Given the description of an element on the screen output the (x, y) to click on. 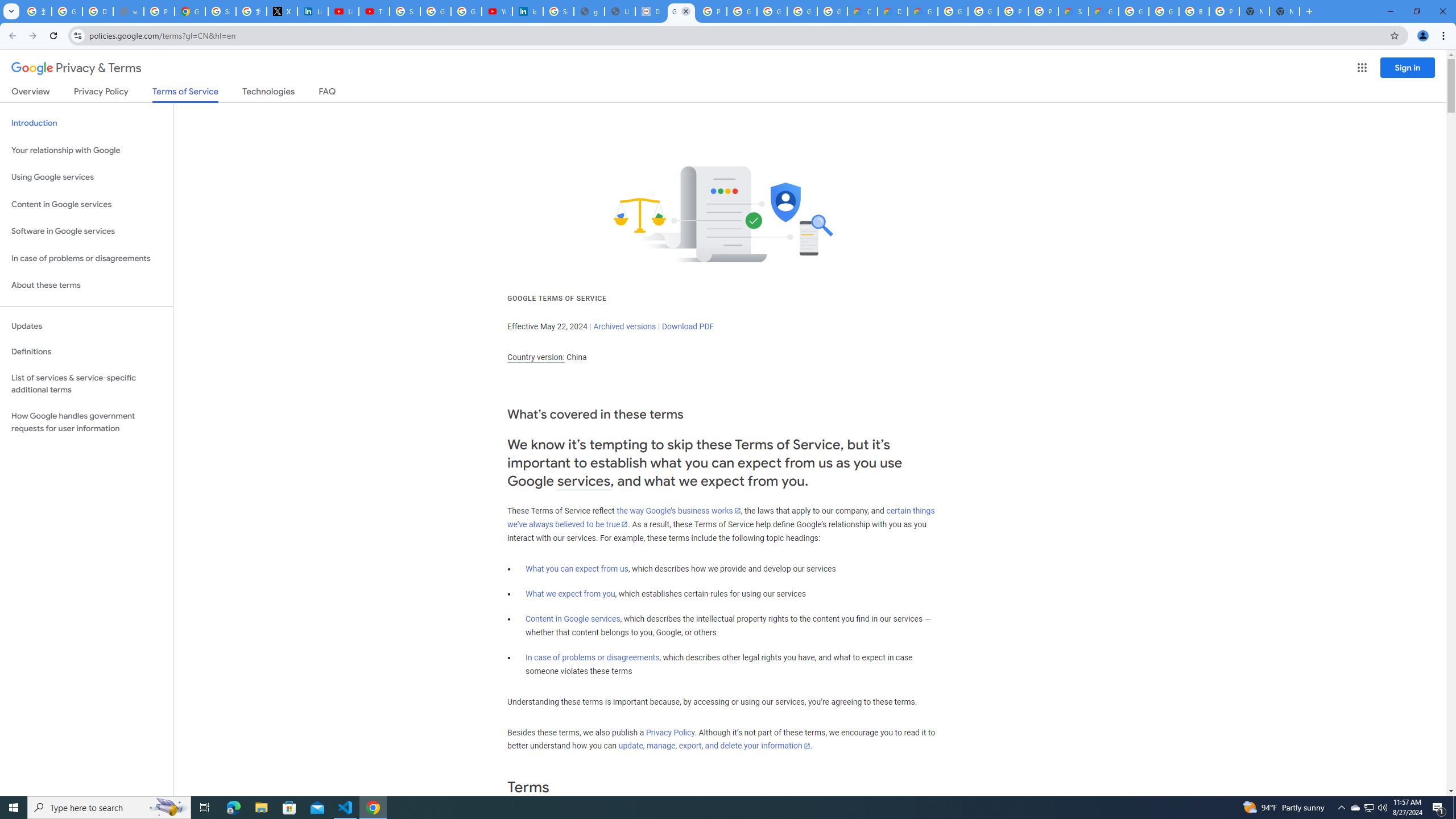
Archived versions (624, 326)
About these terms (86, 284)
Sign in - Google Accounts (558, 11)
User Details (619, 11)
Data Privacy Framework (650, 11)
In case of problems or disagreements (592, 657)
google_privacy_policy_en.pdf (589, 11)
Google Cloud Platform (952, 11)
Content in Google services (572, 618)
